Given the description of an element on the screen output the (x, y) to click on. 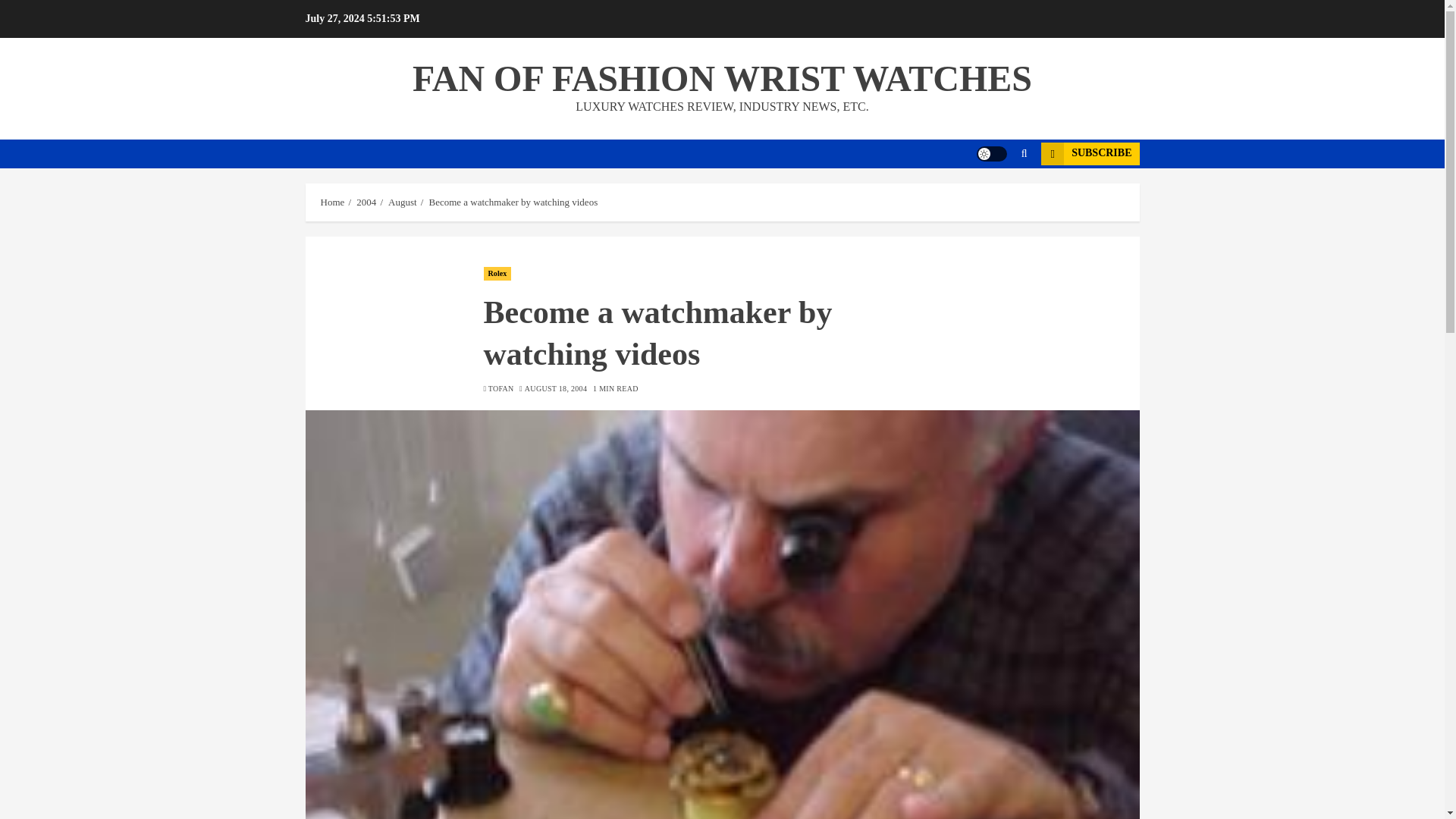
TOFAN (500, 388)
Search (994, 199)
August (402, 202)
Become a watchmaker by watching videos (512, 202)
Rolex (497, 273)
2004 (365, 202)
SUBSCRIBE (1089, 153)
Search (1023, 153)
Home (331, 202)
FAN OF FASHION WRIST WATCHES (722, 78)
AUGUST 18, 2004 (555, 388)
